Given the description of an element on the screen output the (x, y) to click on. 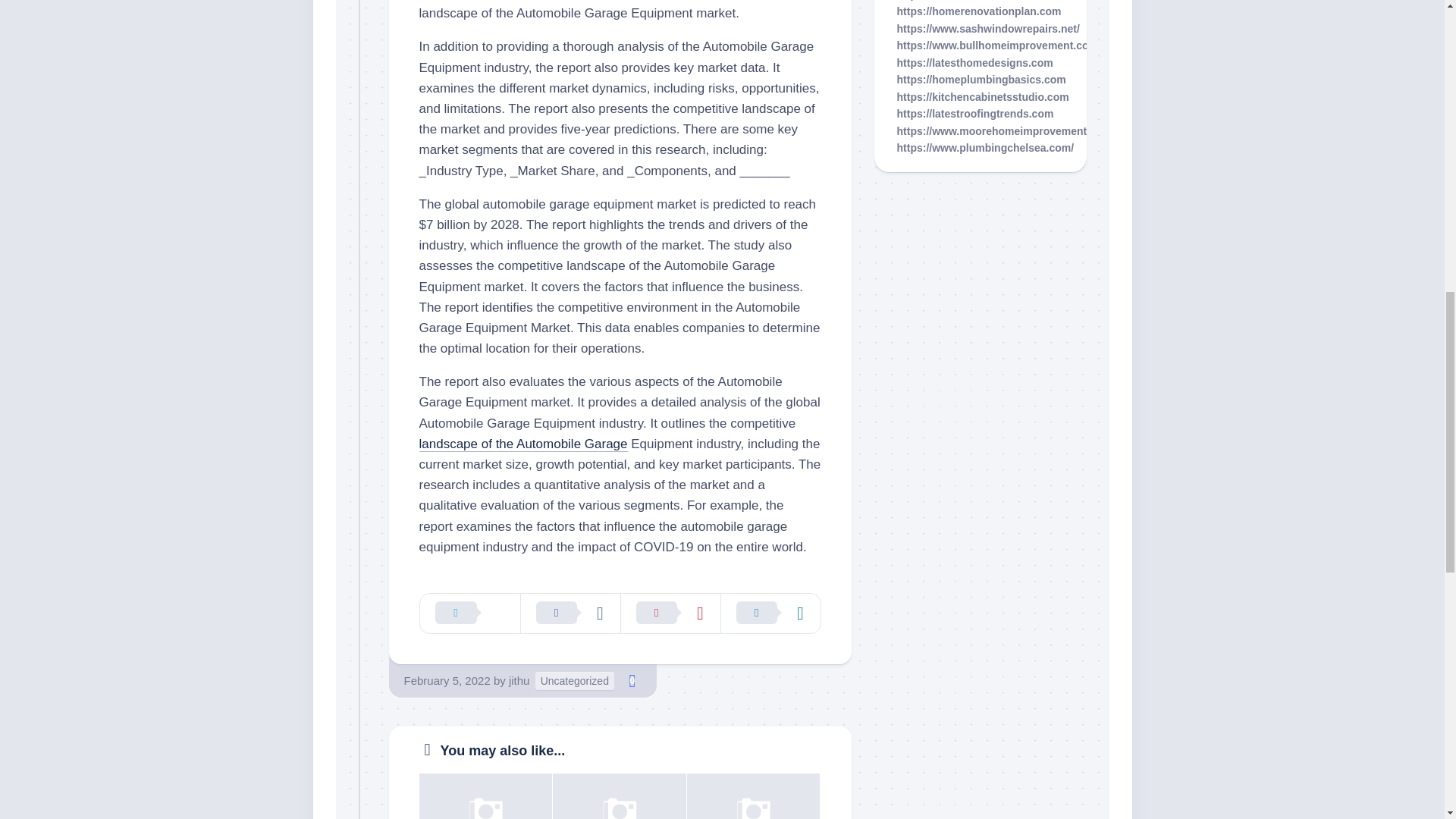
Share on X (469, 613)
Share on Facebook (569, 613)
landscape of the Automobile Garage (523, 443)
Posts by jithu (518, 680)
Uncategorized (574, 681)
Share on Pinterest (670, 613)
jithu (518, 680)
Share on LinkedIn (770, 613)
0 (632, 680)
